Given the description of an element on the screen output the (x, y) to click on. 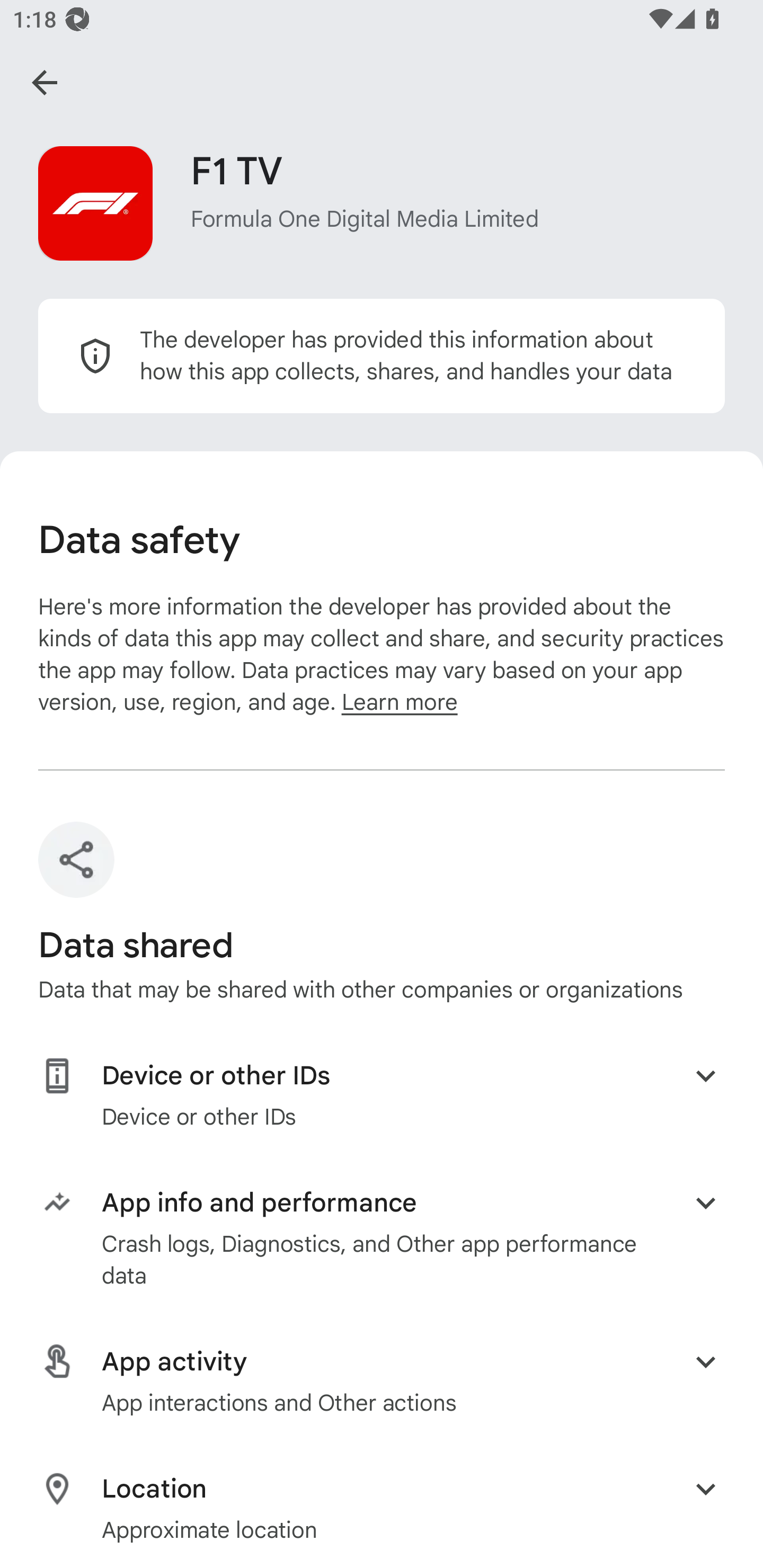
Navigate up (44, 82)
